Given the description of an element on the screen output the (x, y) to click on. 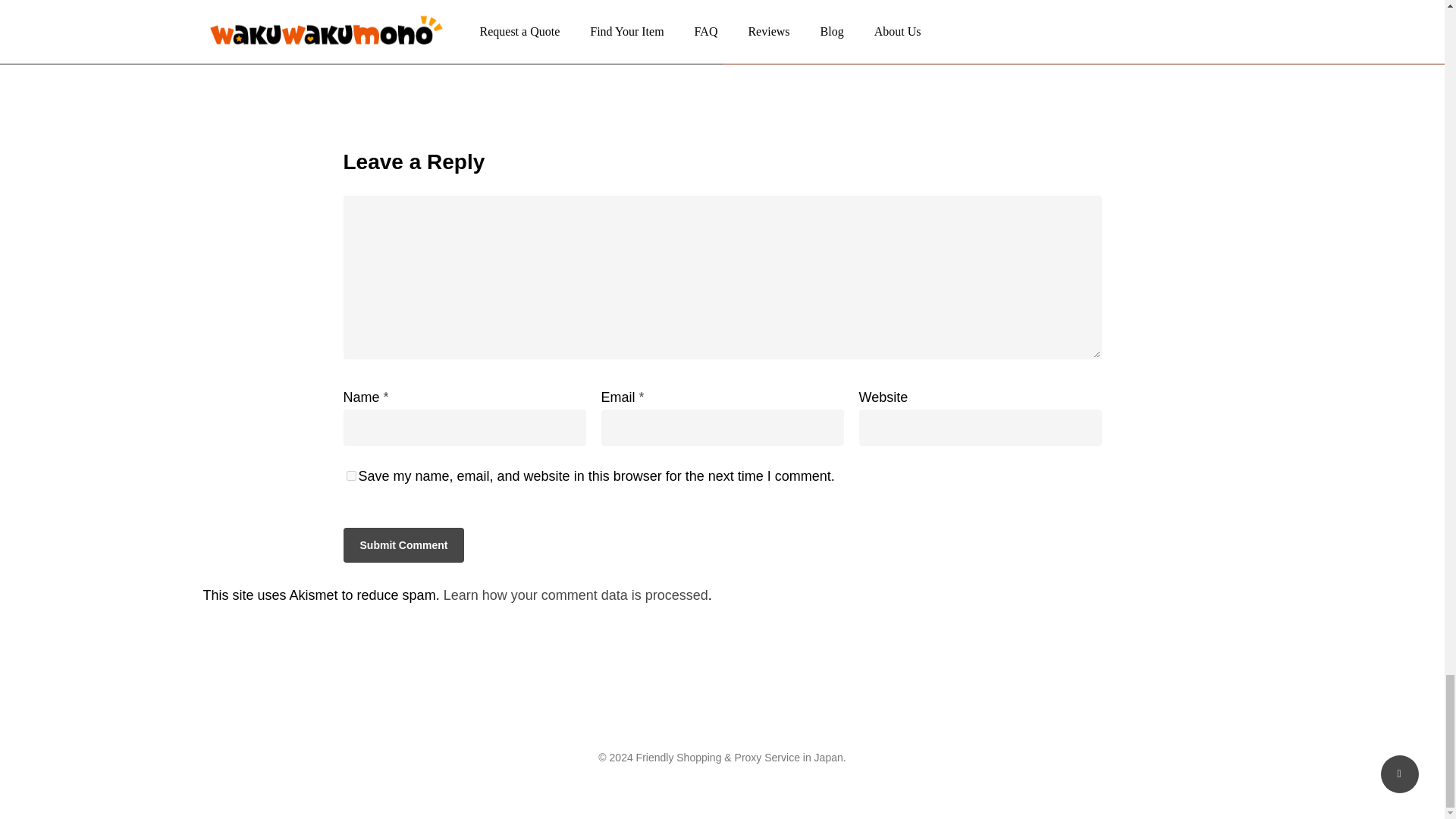
Learn how your comment data is processed (575, 595)
yes (350, 475)
Submit Comment (403, 544)
Submit Comment (403, 544)
